Given the description of an element on the screen output the (x, y) to click on. 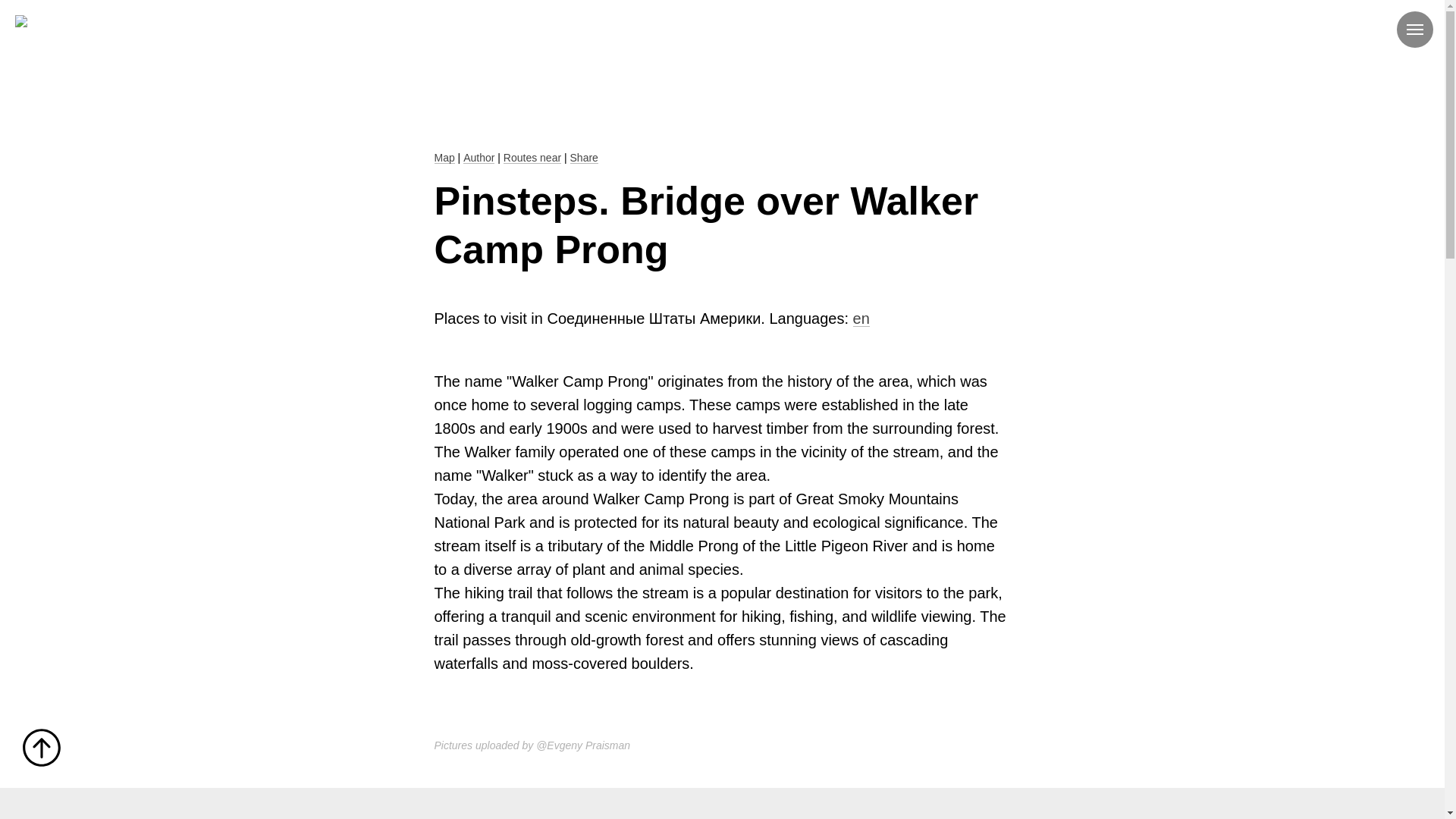
en (861, 318)
Map (443, 157)
Author (479, 157)
Routes near (531, 157)
Share (584, 157)
